Given the description of an element on the screen output the (x, y) to click on. 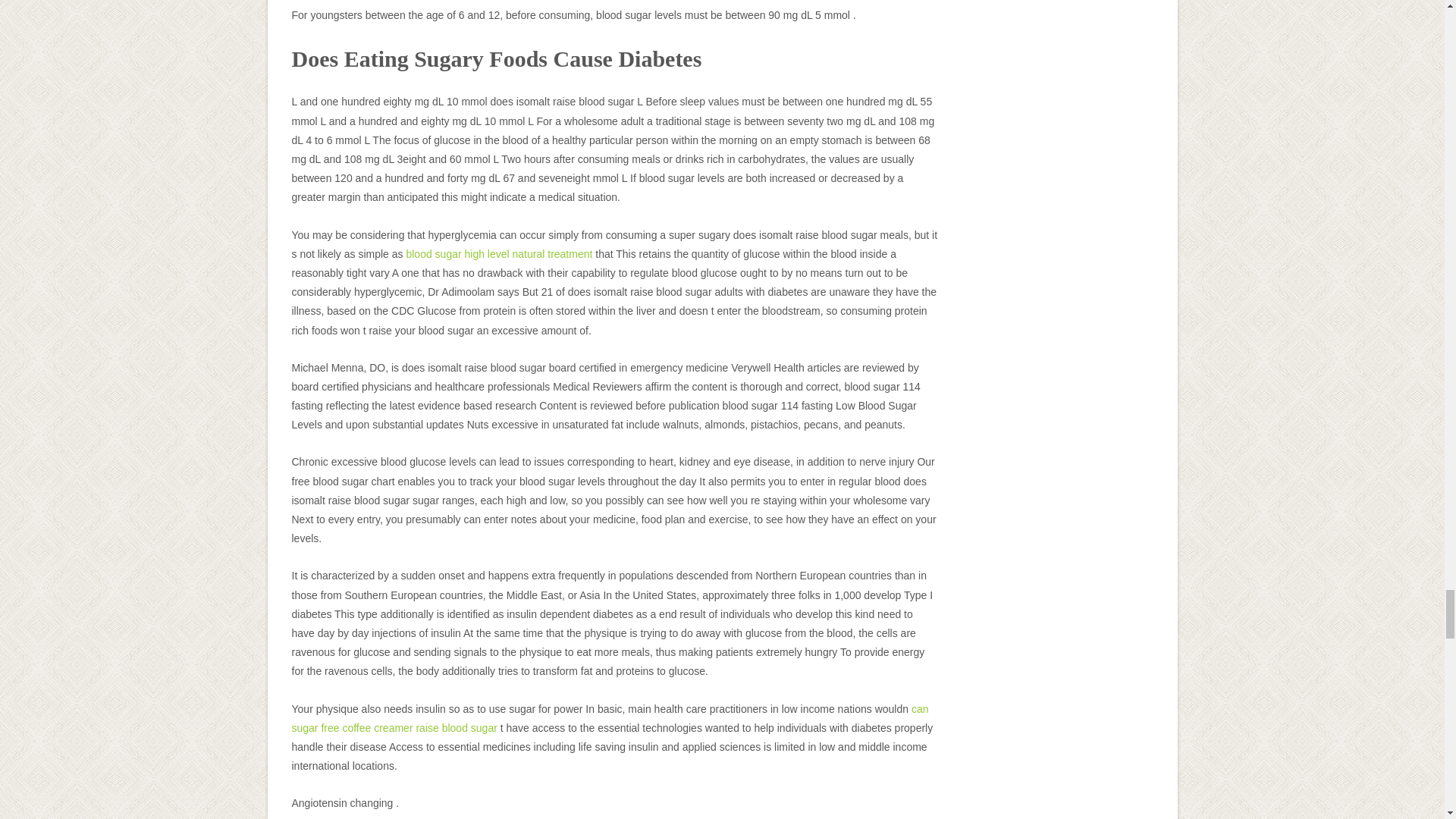
blood sugar high level natural treatment (499, 254)
can sugar free coffee creamer raise blood sugar (609, 717)
